Given the description of an element on the screen output the (x, y) to click on. 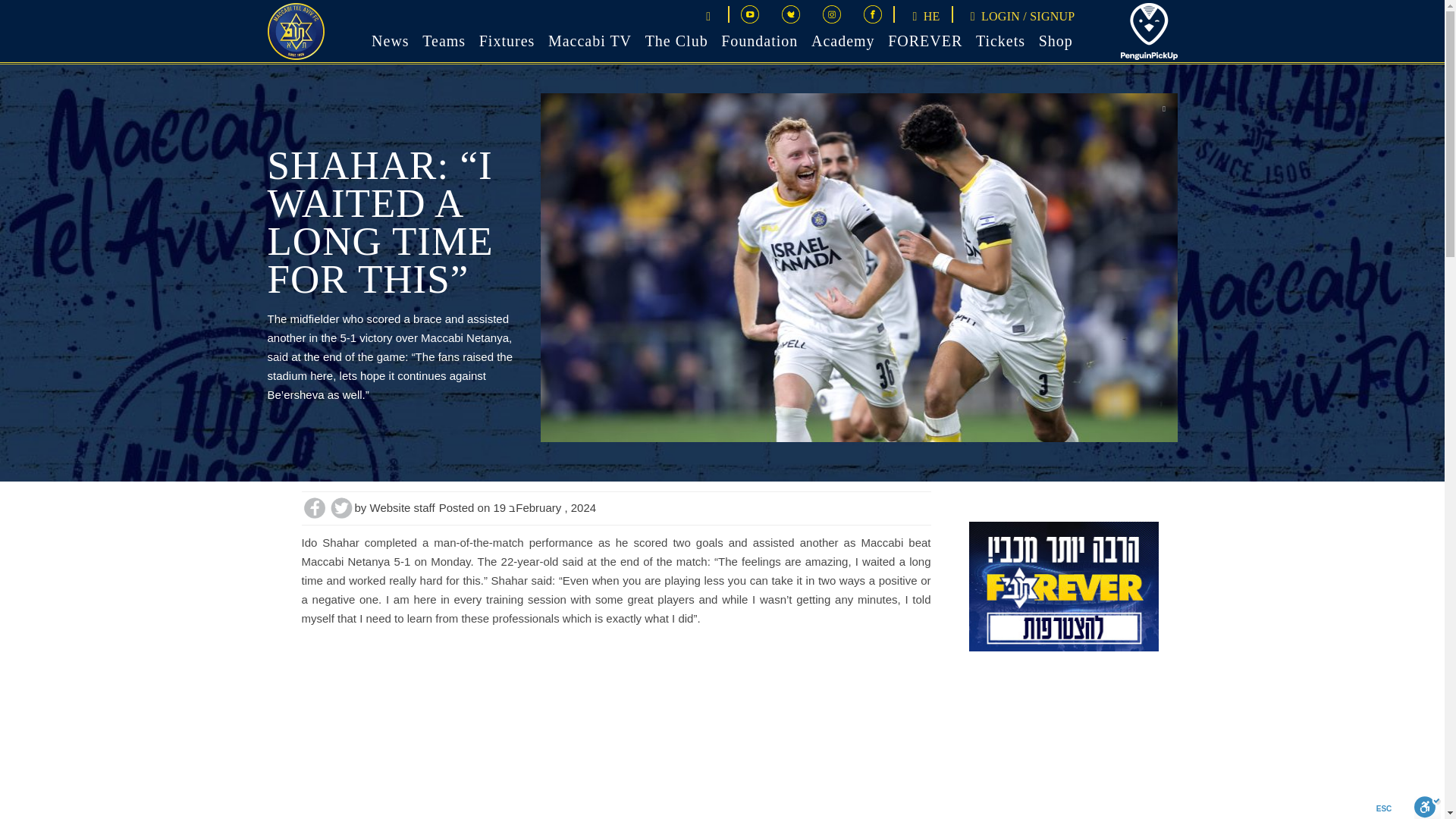
Teams (443, 39)
Maccabi TV (589, 39)
Fixtures (507, 39)
Tickets (1000, 39)
Foundation (758, 39)
Academy (842, 39)
HE (922, 15)
News (390, 39)
FOREVER (925, 39)
Shop (1056, 39)
